Given the description of an element on the screen output the (x, y) to click on. 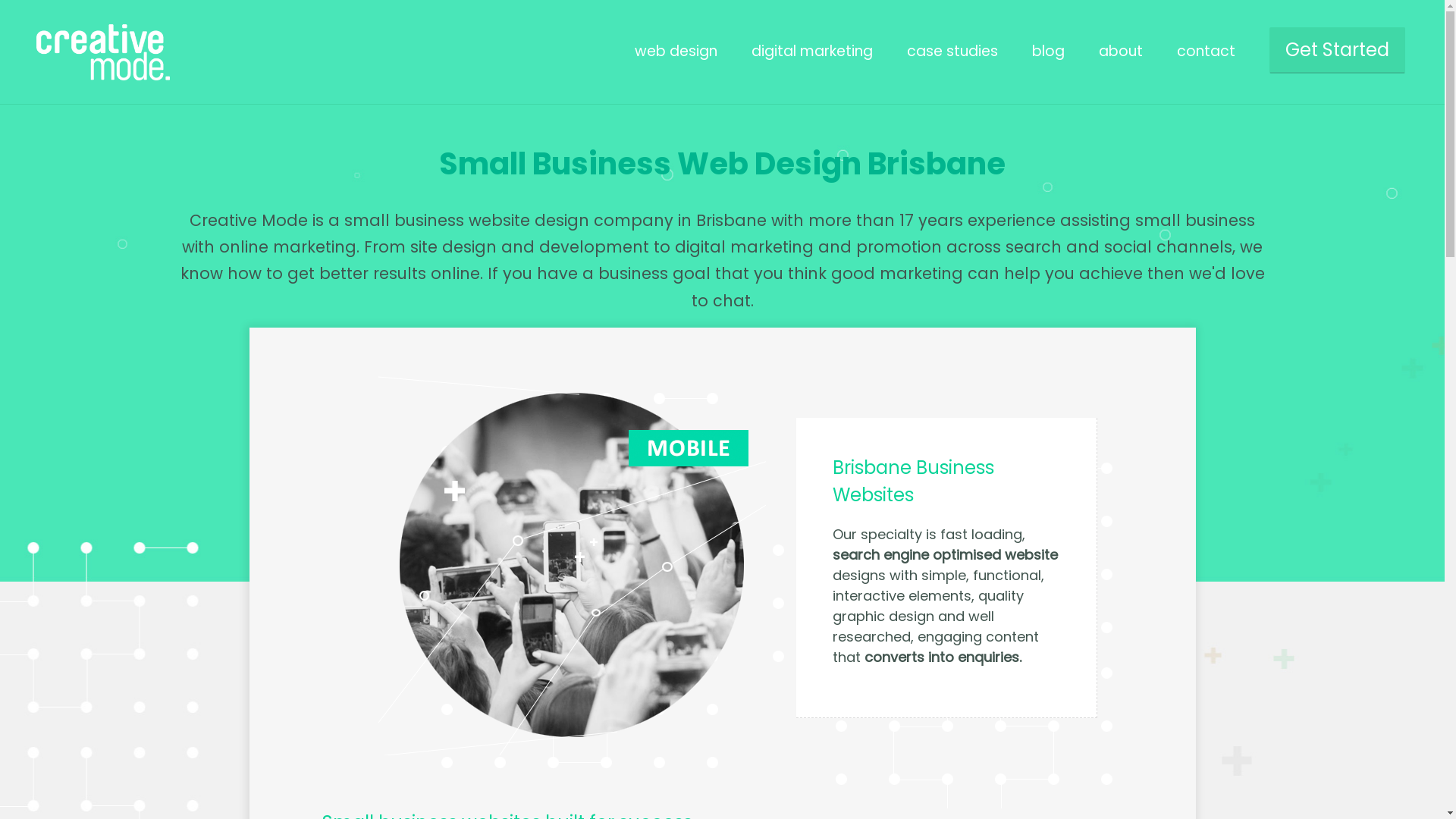
digital marketing Element type: text (811, 50)
Get Started Element type: text (1337, 50)
Creative Mode Brisbane website home page Element type: hover (96, 75)
about Element type: text (1120, 50)
case studies Element type: text (951, 50)
blog Element type: text (1048, 50)
contact Element type: text (1205, 50)
web design Element type: text (675, 50)
